Given the description of an element on the screen output the (x, y) to click on. 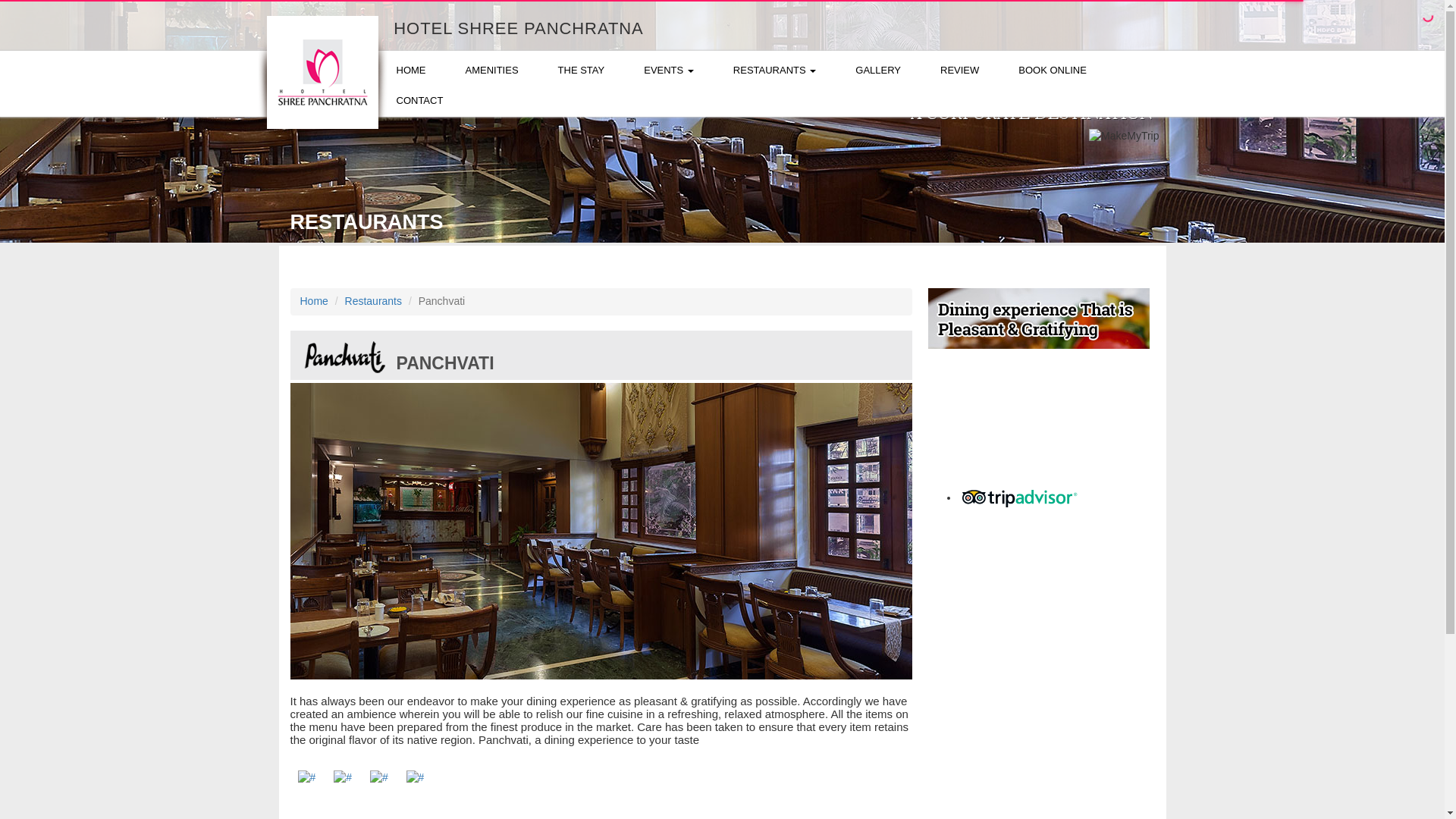
RESTAURANTS (774, 70)
GALLERY (877, 70)
Home (314, 300)
REVIEW (959, 70)
AMENITIES (492, 70)
Restaurants (373, 300)
HOME (410, 70)
EVENTS (668, 70)
CONTACT (419, 100)
THE STAY (581, 70)
BOOK ONLINE (1052, 70)
